Given the description of an element on the screen output the (x, y) to click on. 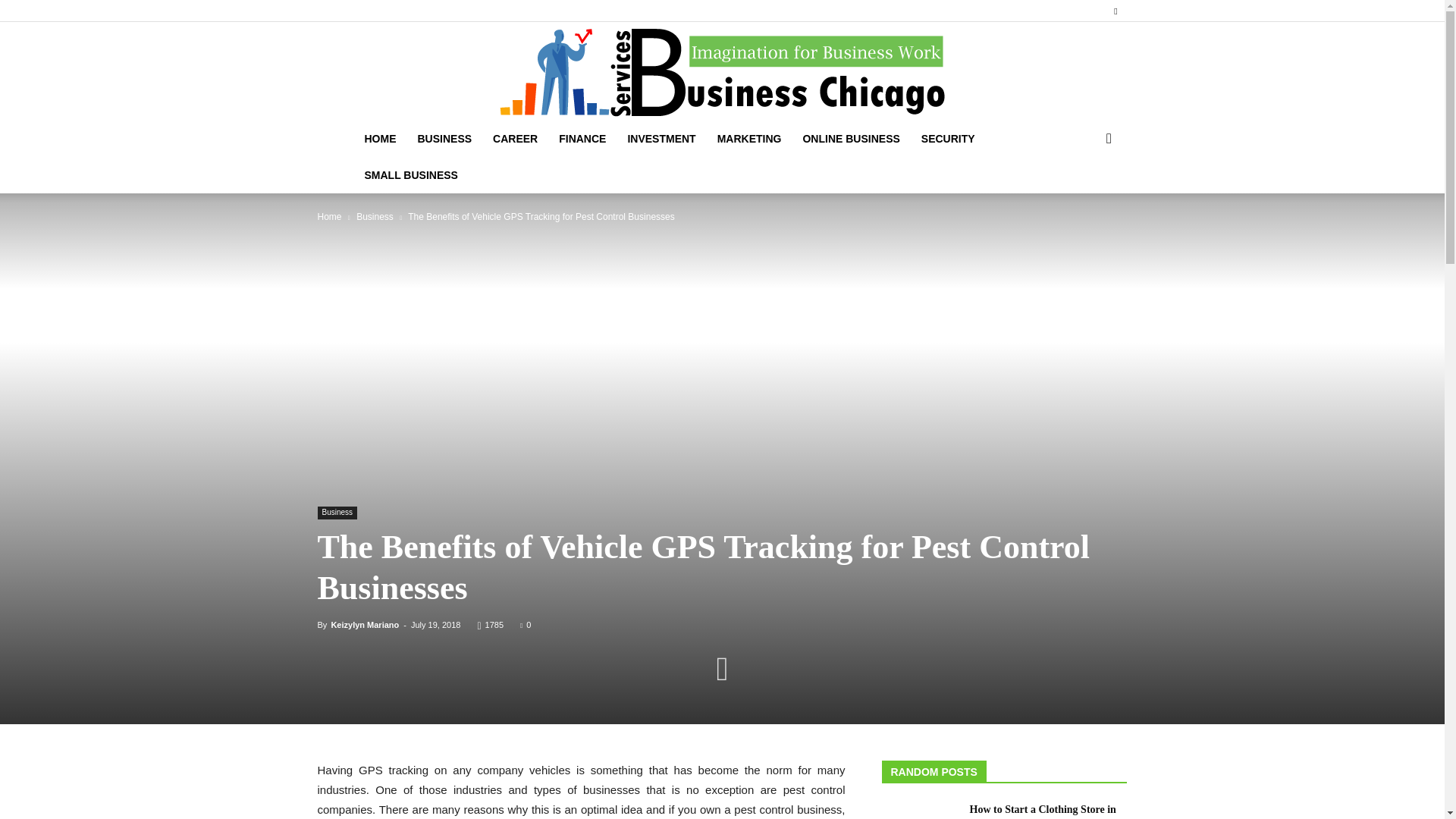
SMALL BUSINESS (410, 175)
Business (374, 216)
ONLINE BUSINESS (851, 138)
Search (1085, 199)
CAREER (514, 138)
MARKETING (749, 138)
SECURITY (948, 138)
BUSINESS (443, 138)
INVESTMENT (660, 138)
Keizylyn Mariano (364, 624)
